Given the description of an element on the screen output the (x, y) to click on. 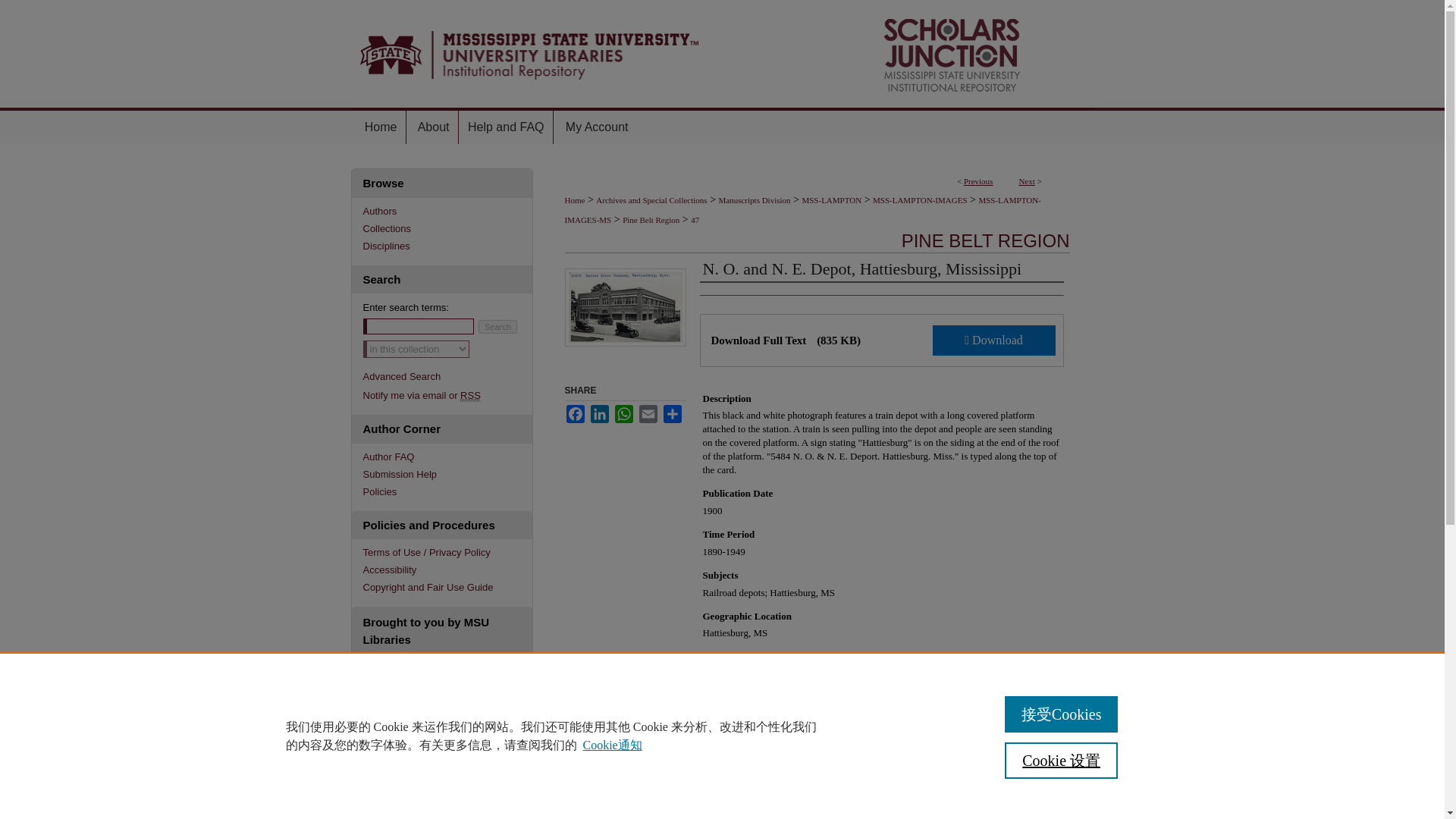
Scholars Junction (721, 53)
Next (1025, 180)
Disciplines (447, 244)
Search (497, 326)
MSS-LAMPTON (831, 199)
Help and FAQ (506, 127)
Email or RSS Notifications (447, 395)
Facebook (574, 413)
Manuscripts Division (754, 199)
Collections (447, 228)
My Account (597, 127)
Search (497, 326)
Archives and Special Collections (650, 199)
My Account (597, 127)
Authors (447, 210)
